Given the description of an element on the screen output the (x, y) to click on. 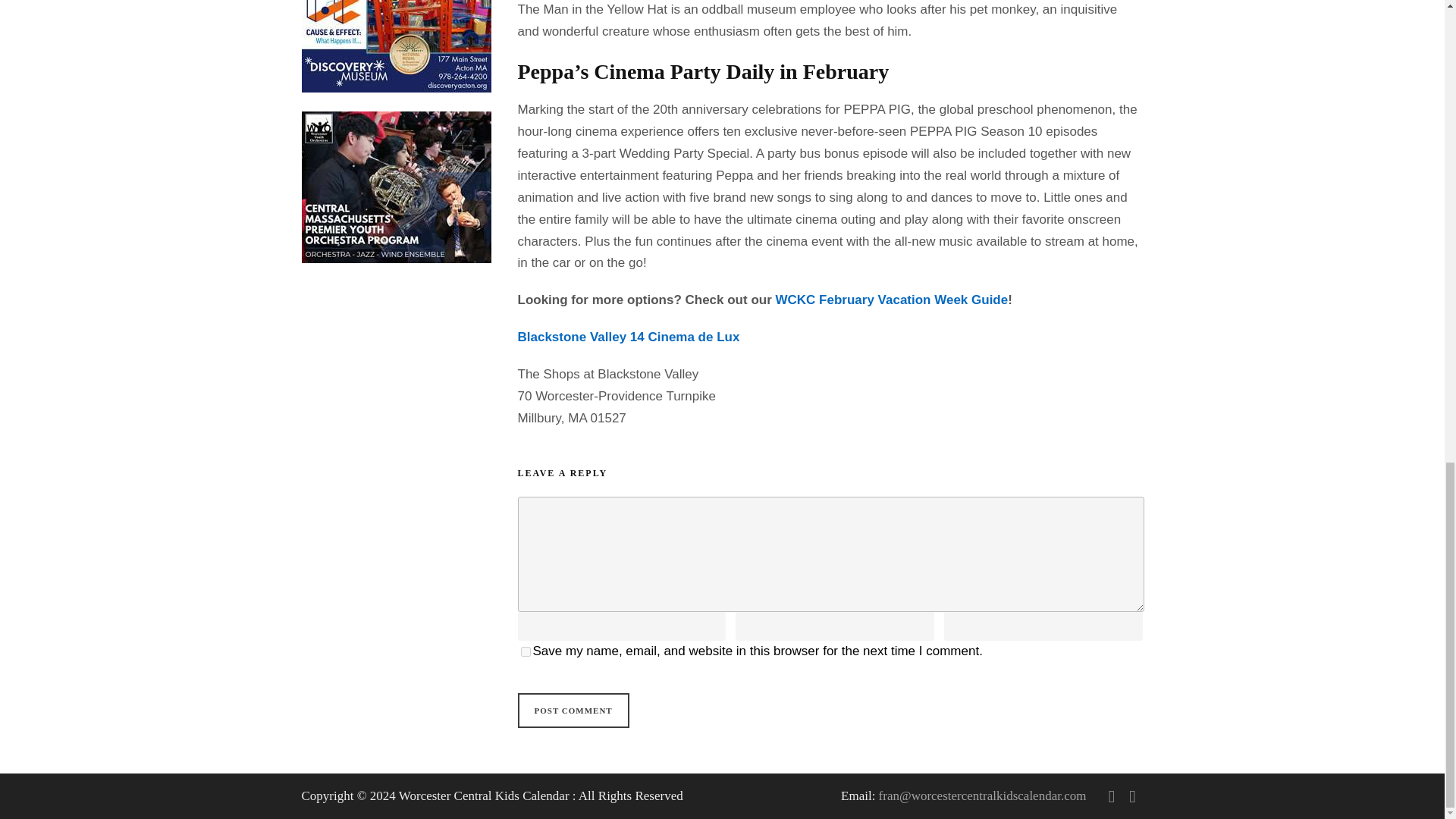
yes (524, 651)
Blackstone Valley 14 Cinema de Lux (627, 336)
WCKC February Vacation Week Guide (890, 299)
Post Comment (572, 710)
